Given the description of an element on the screen output the (x, y) to click on. 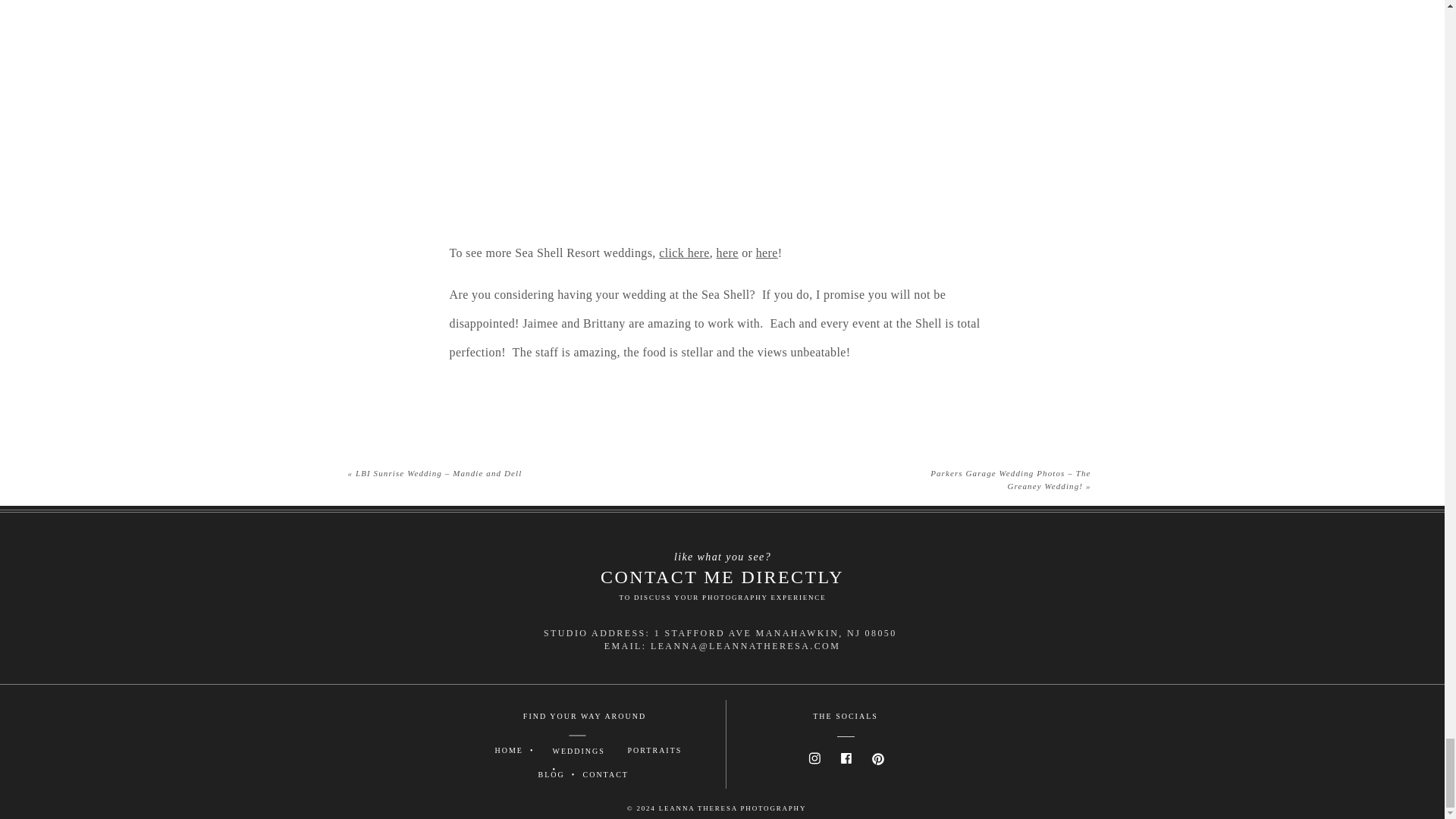
click here (684, 252)
here (727, 252)
CONTACT ME DIRECTLY (722, 572)
here (766, 252)
like what you see? (721, 550)
Facebook Copy-color Created with Sketch. (845, 758)
Instagram-color Created with Sketch. (814, 758)
TO DISCUSS YOUR PHOTOGRAPHY EXPERIENCE (721, 596)
